Given the description of an element on the screen output the (x, y) to click on. 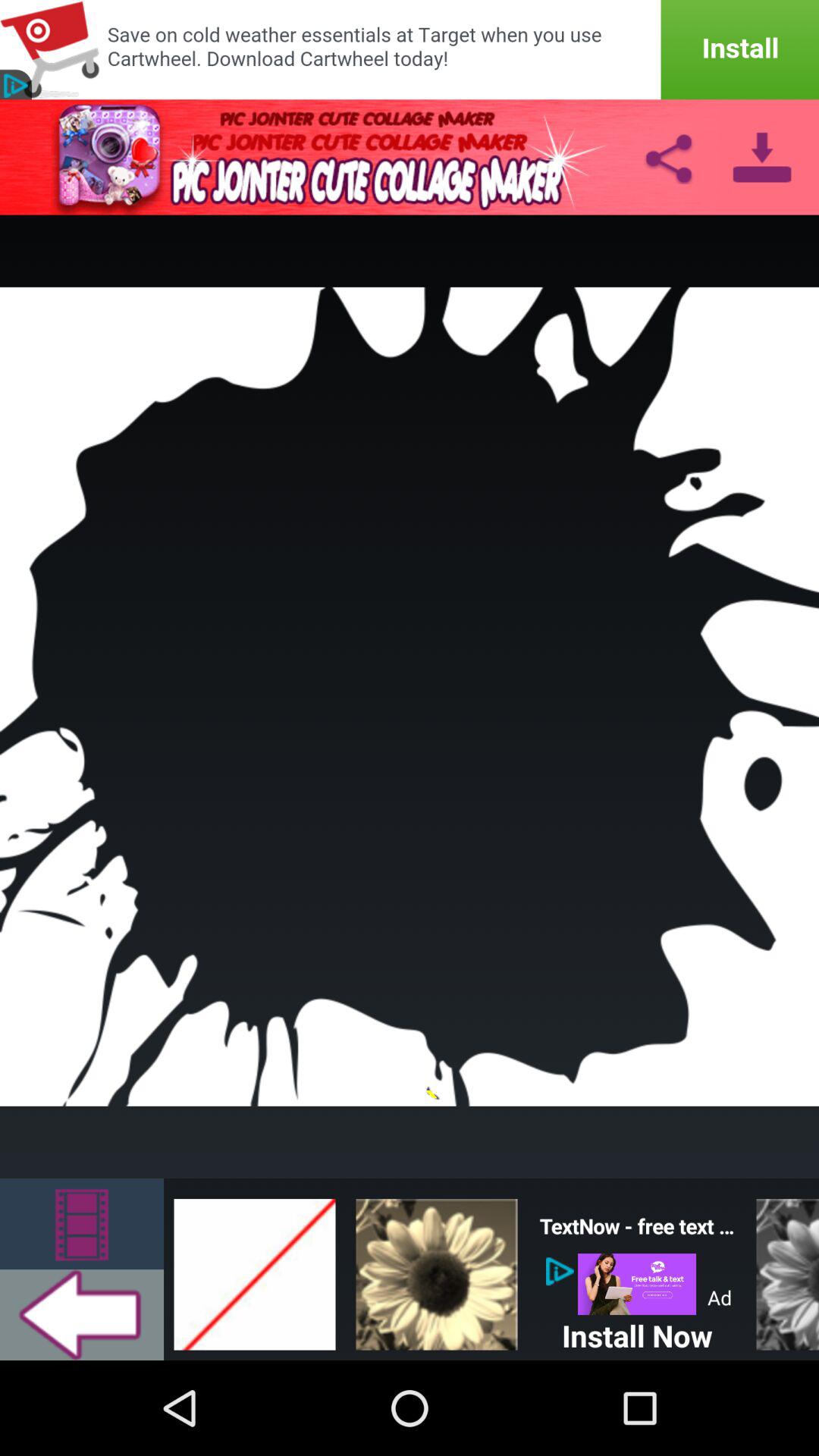
use flower image (436, 1269)
